Given the description of an element on the screen output the (x, y) to click on. 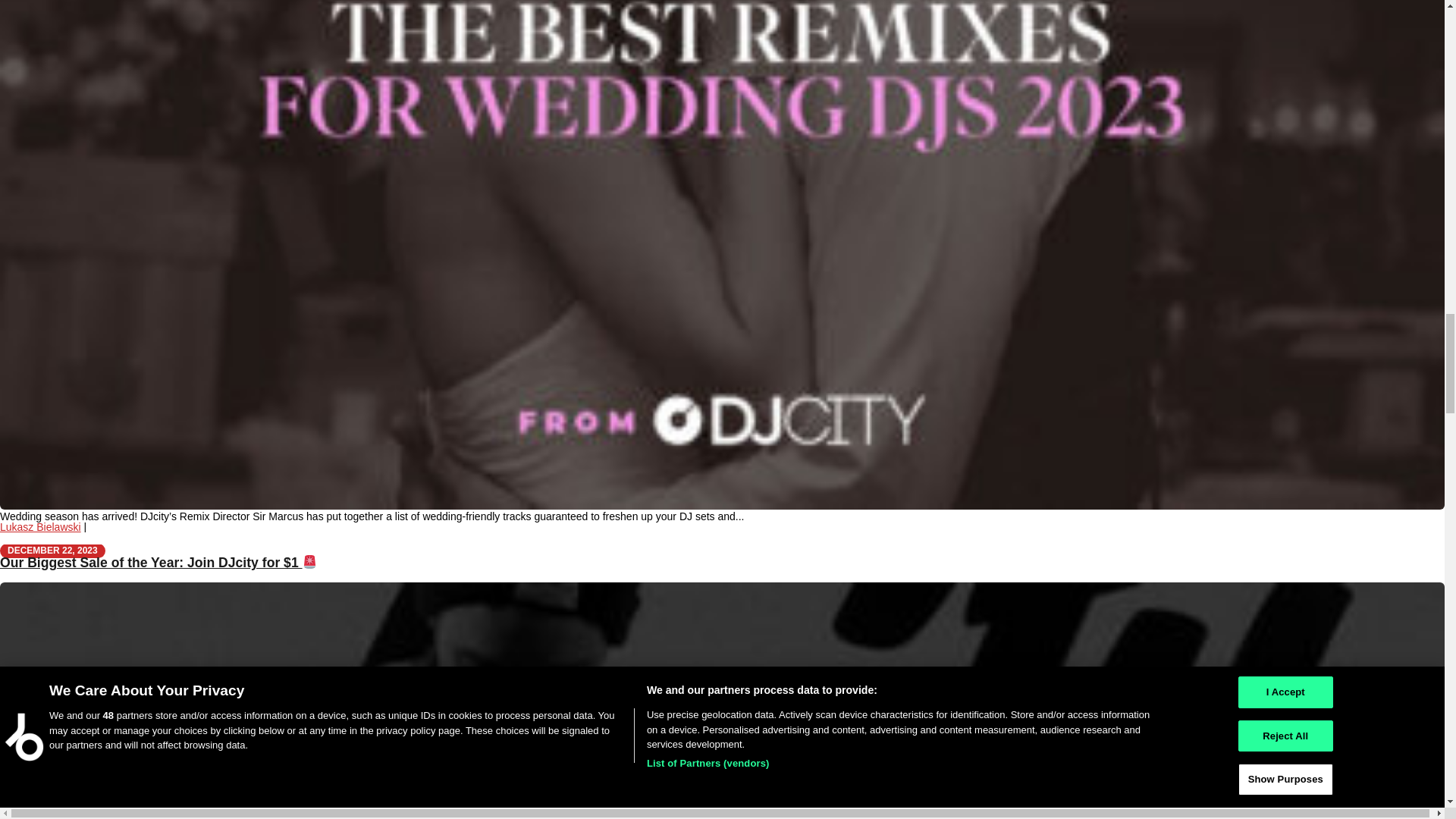
Lukasz Bielawski (40, 526)
